Given the description of an element on the screen output the (x, y) to click on. 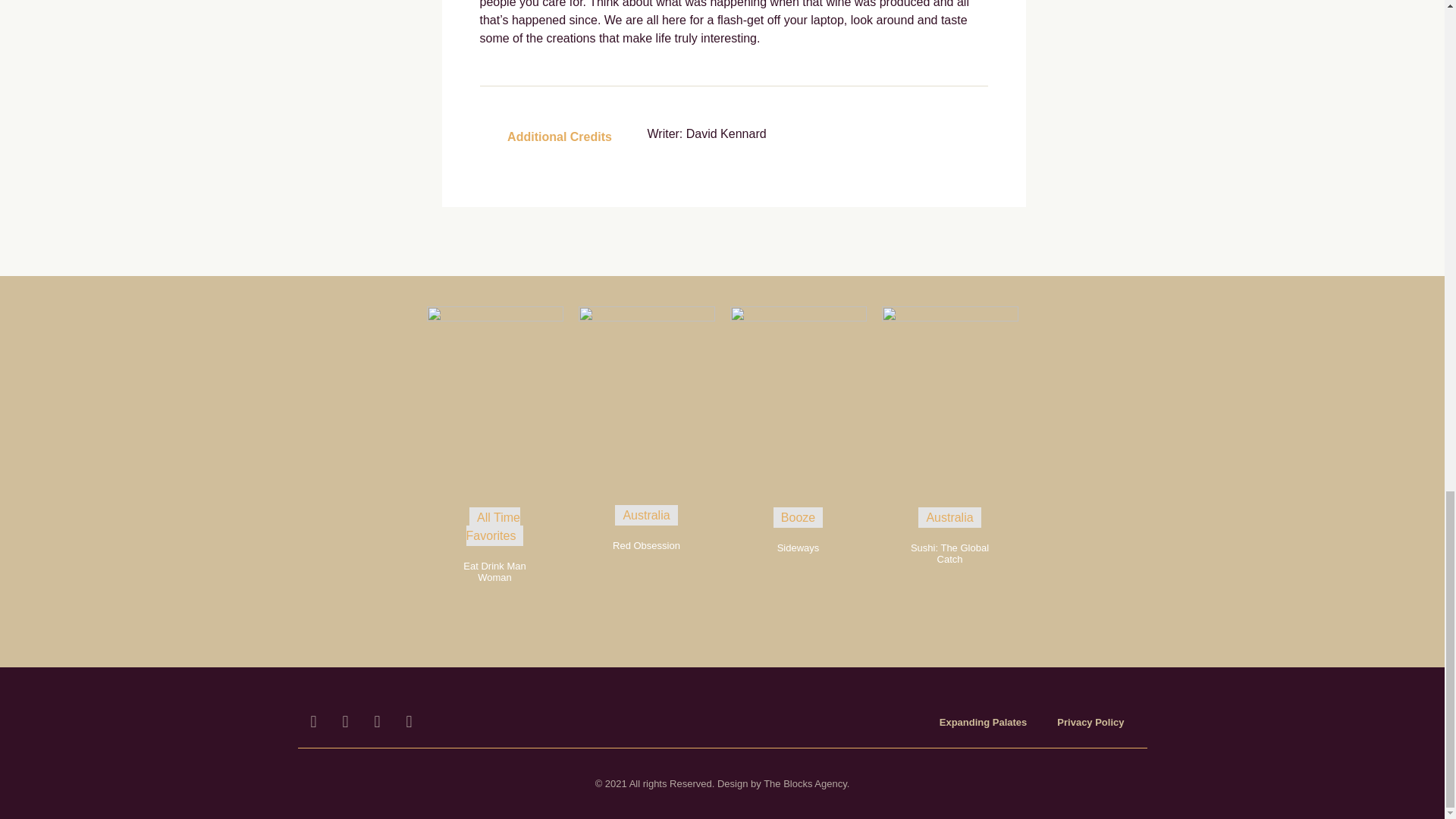
Sideways (798, 547)
Sushi: The Global Catch (949, 553)
Sushi: The Global Catch (948, 317)
Privacy Policy (1090, 722)
Red Obsession (646, 317)
Eat Drink Man Woman (494, 571)
Eat Drink Man Woman (494, 317)
Design by The Blocks Agency (782, 783)
Expanding Palates (983, 722)
Sideways (797, 317)
Red Obsession (645, 545)
